Given the description of an element on the screen output the (x, y) to click on. 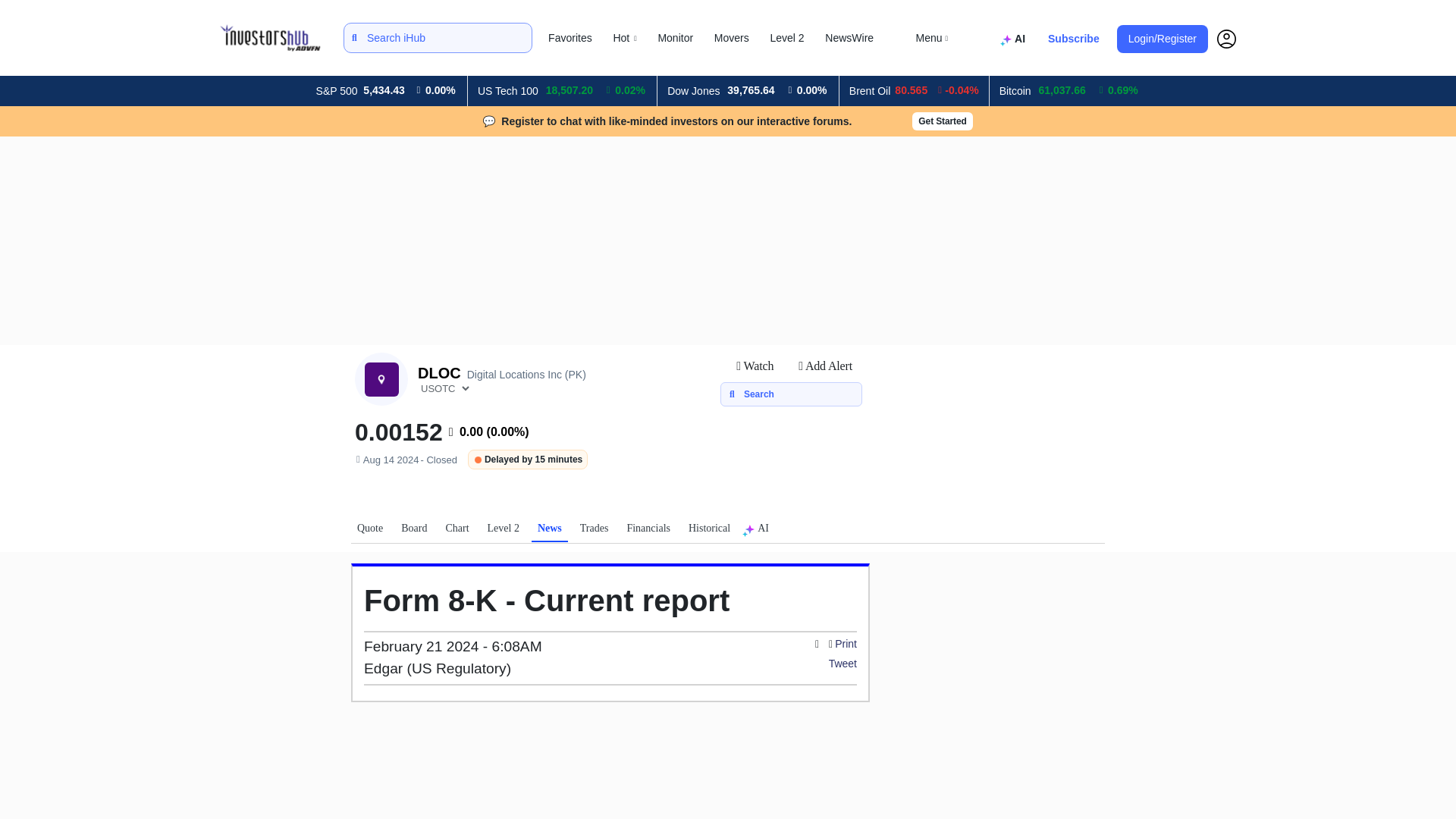
Favorites (569, 37)
Chart of DLOC (456, 531)
Board (413, 531)
Level 2 for DLOC (503, 531)
Monitor (675, 37)
Hot (625, 37)
Historical Data for DLOC (709, 531)
Level 2 (786, 37)
Financial Analysis powered by AI (1015, 39)
Movers (731, 37)
